Given the description of an element on the screen output the (x, y) to click on. 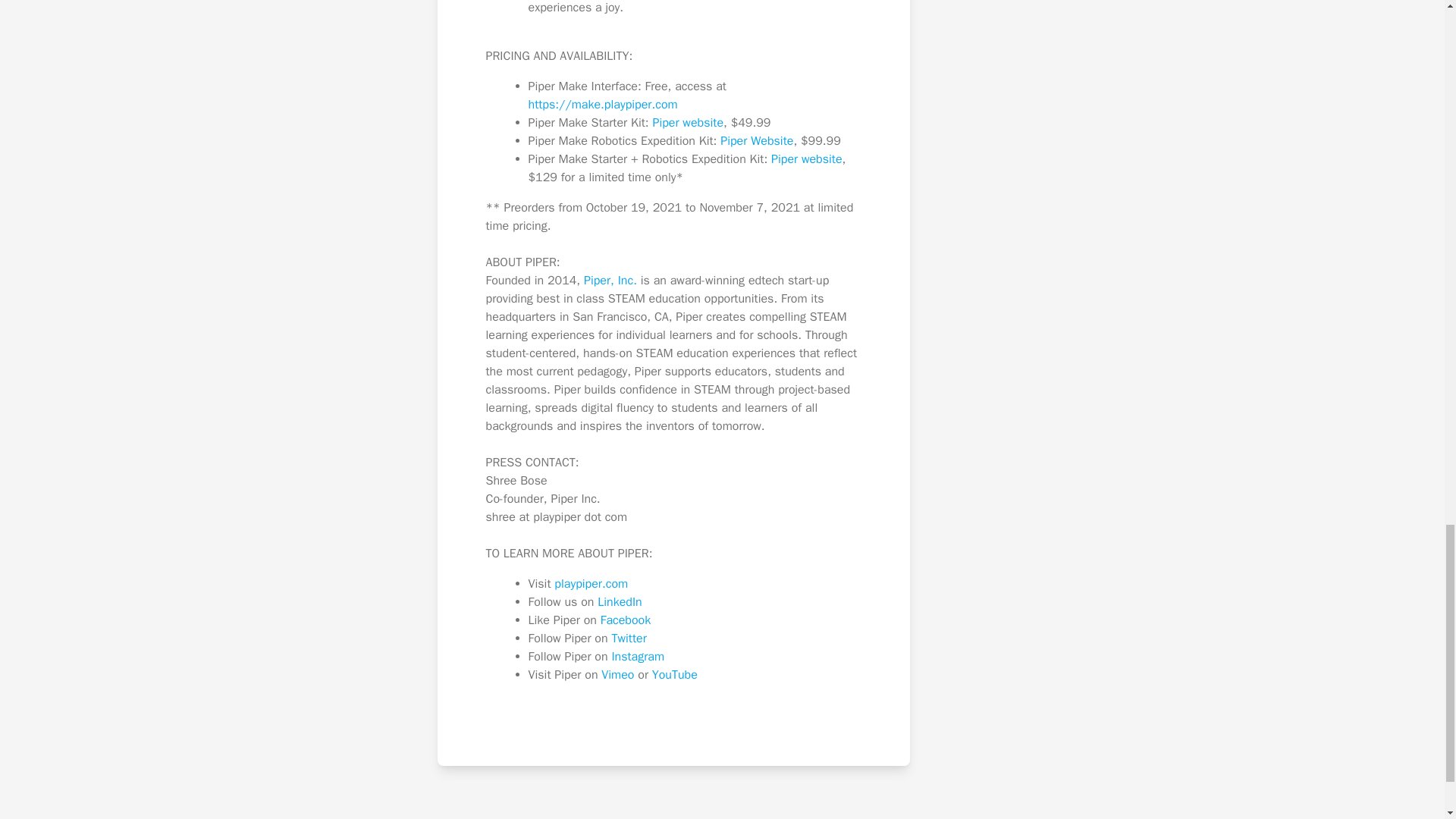
Piper, Inc. (610, 280)
Twitter (628, 638)
Piper website (687, 122)
LinkedIn (619, 601)
Piper Website (756, 140)
Facebook (624, 620)
Piper website (807, 159)
playpiper.com (590, 583)
